Given the description of an element on the screen output the (x, y) to click on. 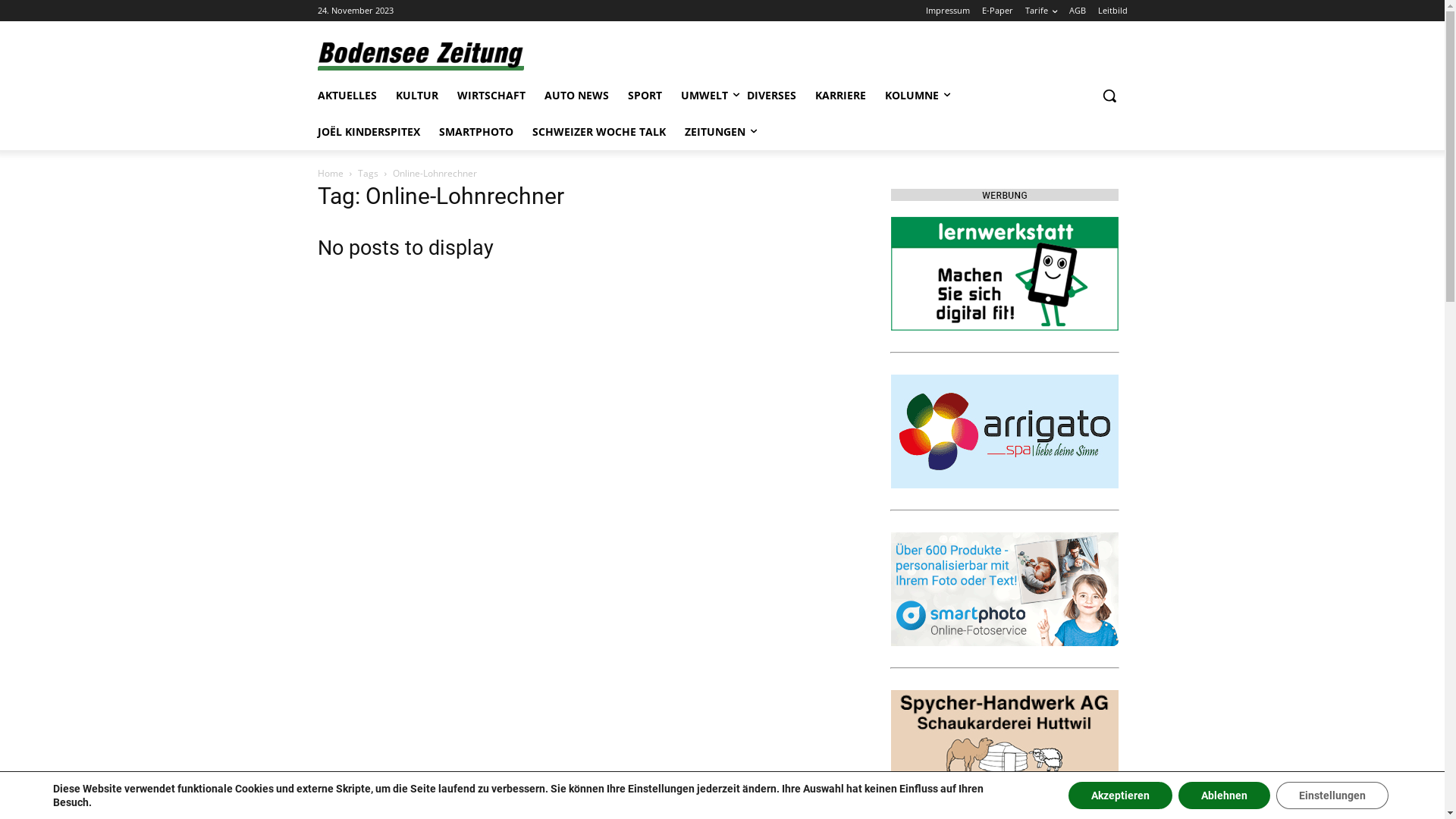
E-Paper Element type: text (996, 10)
Lernwerkstatt Element type: hover (1003, 273)
ZEITUNGEN Element type: text (714, 131)
SCHWEIZER WOCHE TALK Element type: text (598, 131)
Arrigato GmbH Element type: hover (1003, 431)
Impressum Element type: text (947, 10)
Spycher Handwerk AG Element type: hover (1003, 746)
Akzeptieren Element type: text (1120, 795)
AGB Element type: text (1077, 10)
SMARTPHOTO Element type: text (475, 131)
KARRIERE Element type: text (839, 95)
AUTO NEWS Element type: text (576, 95)
Home Element type: text (329, 172)
WIRTSCHAFT Element type: text (490, 95)
UMWELT Element type: text (704, 95)
Tarife Element type: text (1041, 10)
SPORT Element type: text (644, 95)
DIVERSES Element type: text (770, 95)
Einstellungen Element type: text (1332, 795)
AKTUELLES Element type: text (346, 95)
Ablehnen Element type: text (1224, 795)
Leitbild Element type: text (1112, 10)
KOLUMNE Element type: text (911, 95)
smartphoto Element type: hover (1003, 589)
KULTUR Element type: text (416, 95)
